Given the description of an element on the screen output the (x, y) to click on. 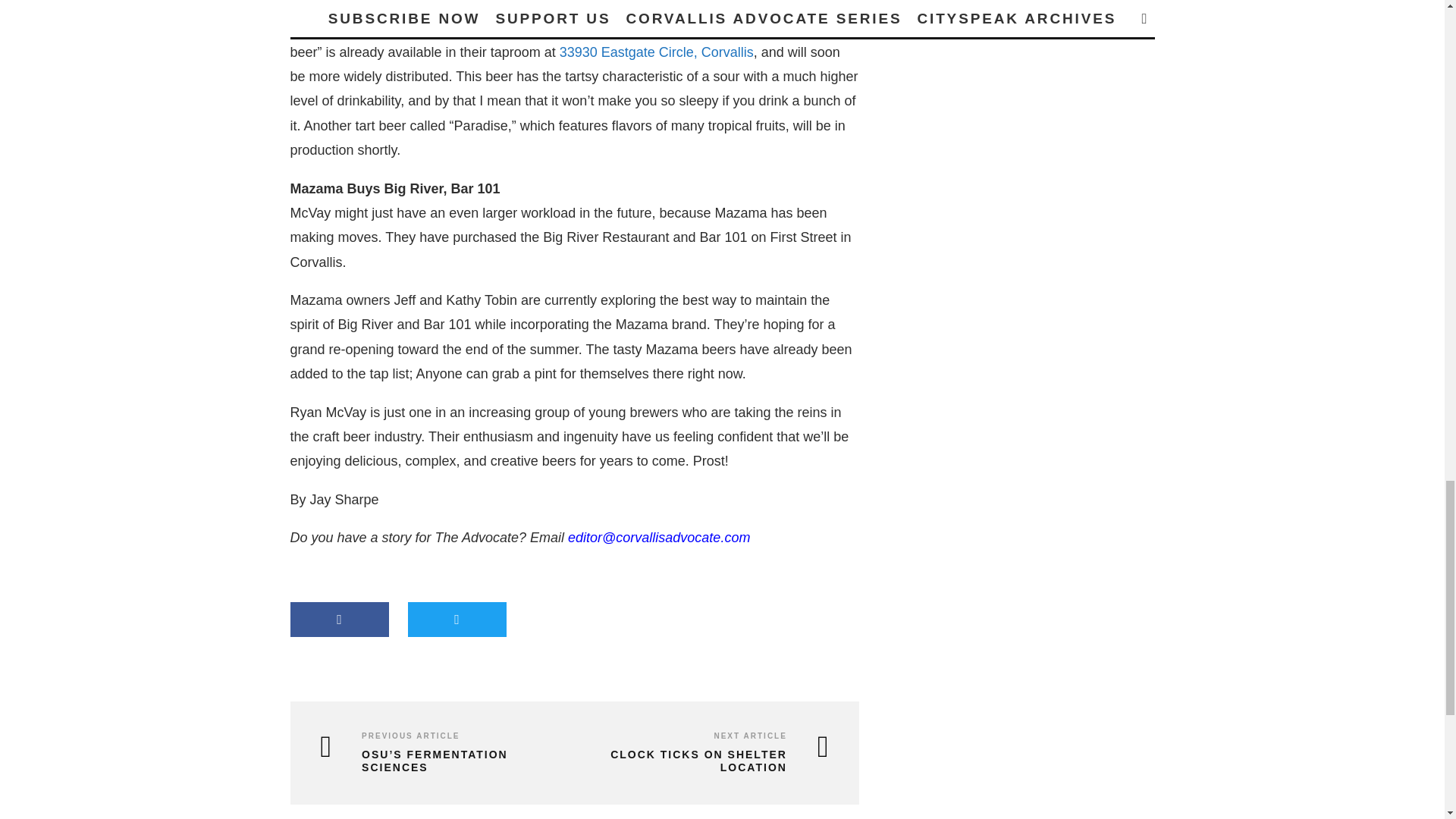
33930 Eastgate Circle, Corvallis (656, 52)
CLOCK TICKS ON SHELTER LOCATION (705, 760)
NEXT ARTICLE (749, 736)
PREVIOUS ARTICLE (410, 736)
